Given the description of an element on the screen output the (x, y) to click on. 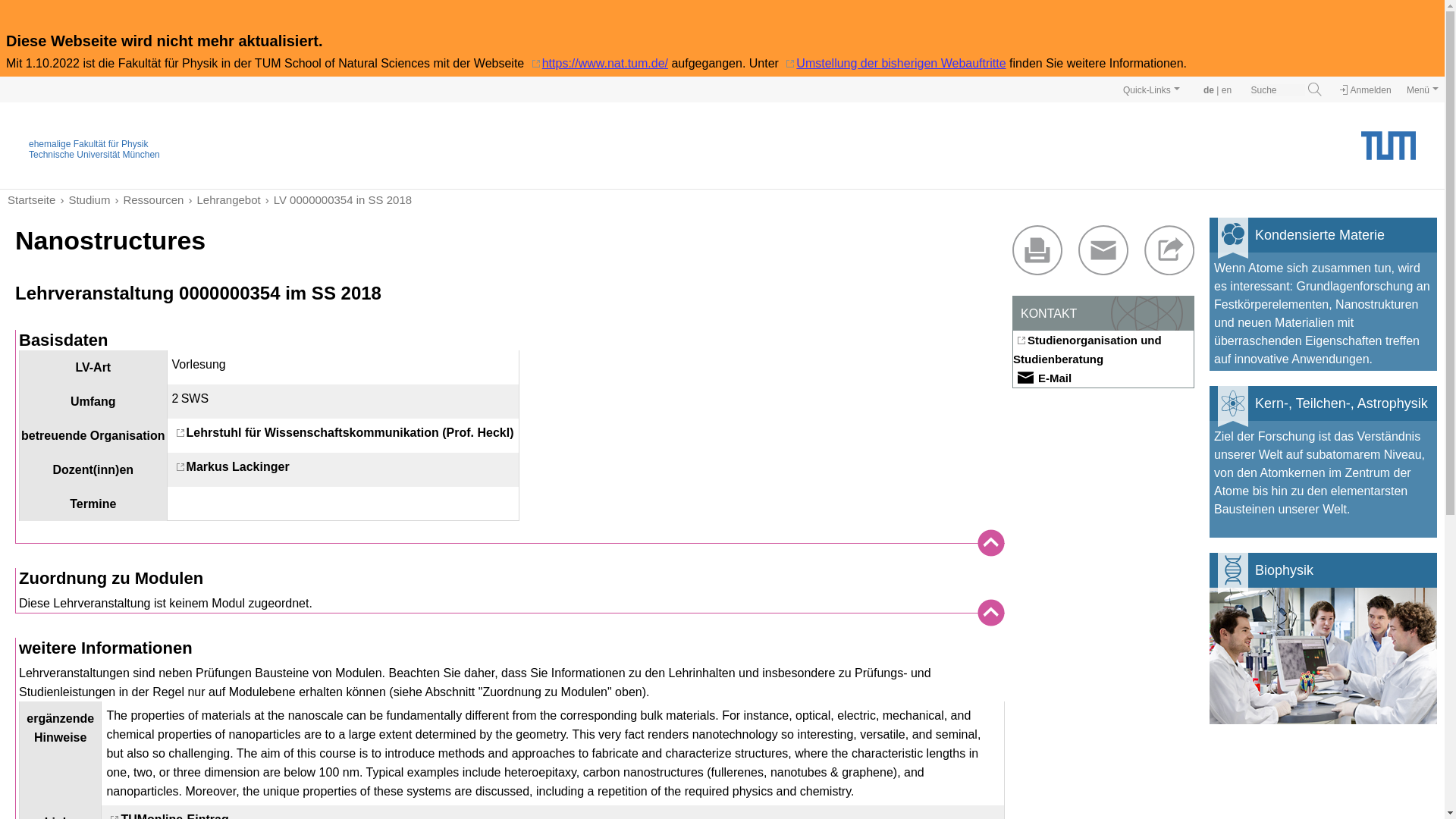
Quick-Links (1151, 89)
Lehrangebot (221, 199)
Studium (82, 199)
Umstellung der bisherigen Webauftritte (893, 62)
es wird die deutsche Sprachversion der Seite angezeigt (1209, 90)
Startseite (31, 199)
Ressourcen (146, 199)
Markus Lackinger (230, 466)
TUMonline-Eintrag (167, 816)
LV 0000000354 in SS 2018 (336, 199)
